Given the description of an element on the screen output the (x, y) to click on. 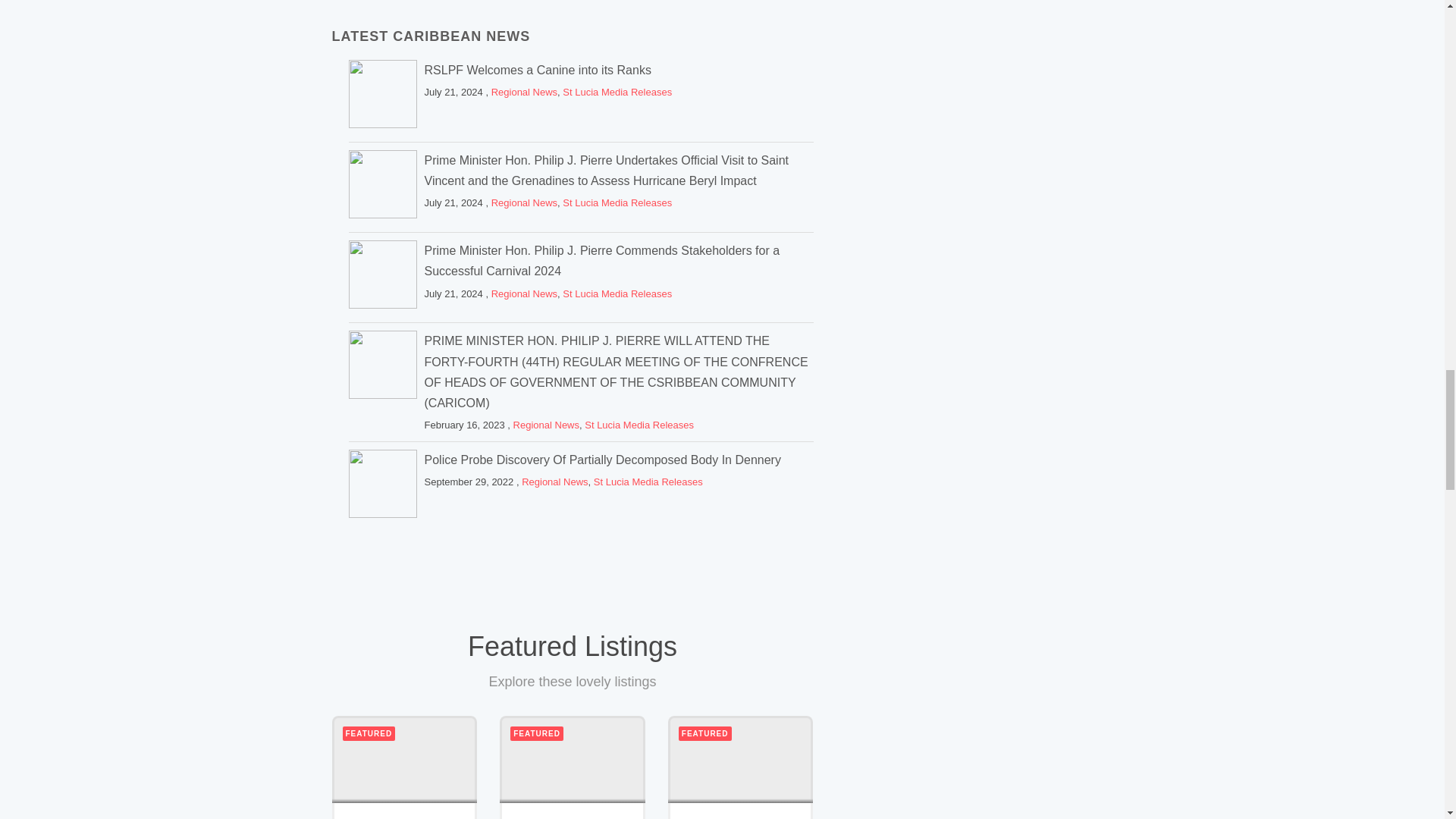
RSLPF Welcomes a Canine into its Ranks (537, 69)
RSLPF Welcomes a Canine into its Ranks (382, 96)
